Given the description of an element on the screen output the (x, y) to click on. 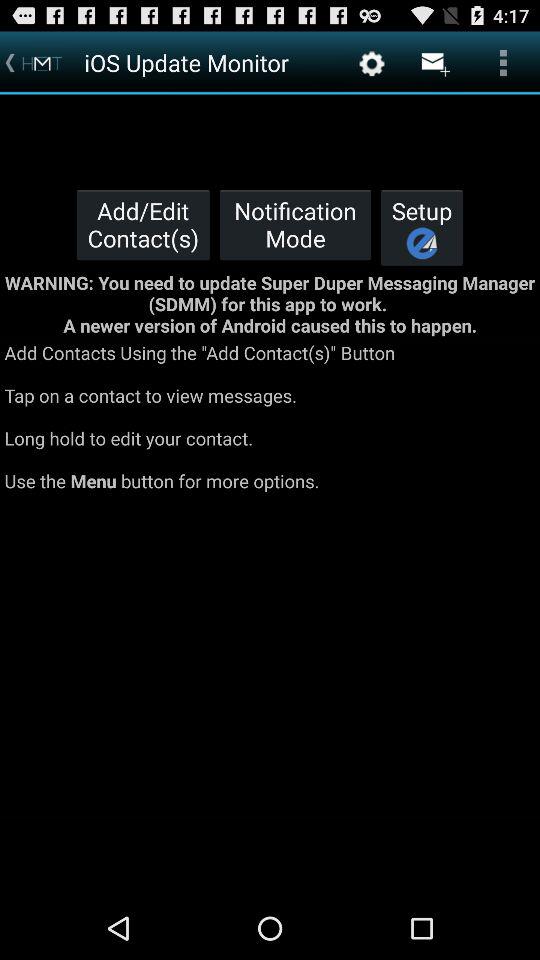
turn off the icon to the right of the notification
mode button (422, 227)
